Given the description of an element on the screen output the (x, y) to click on. 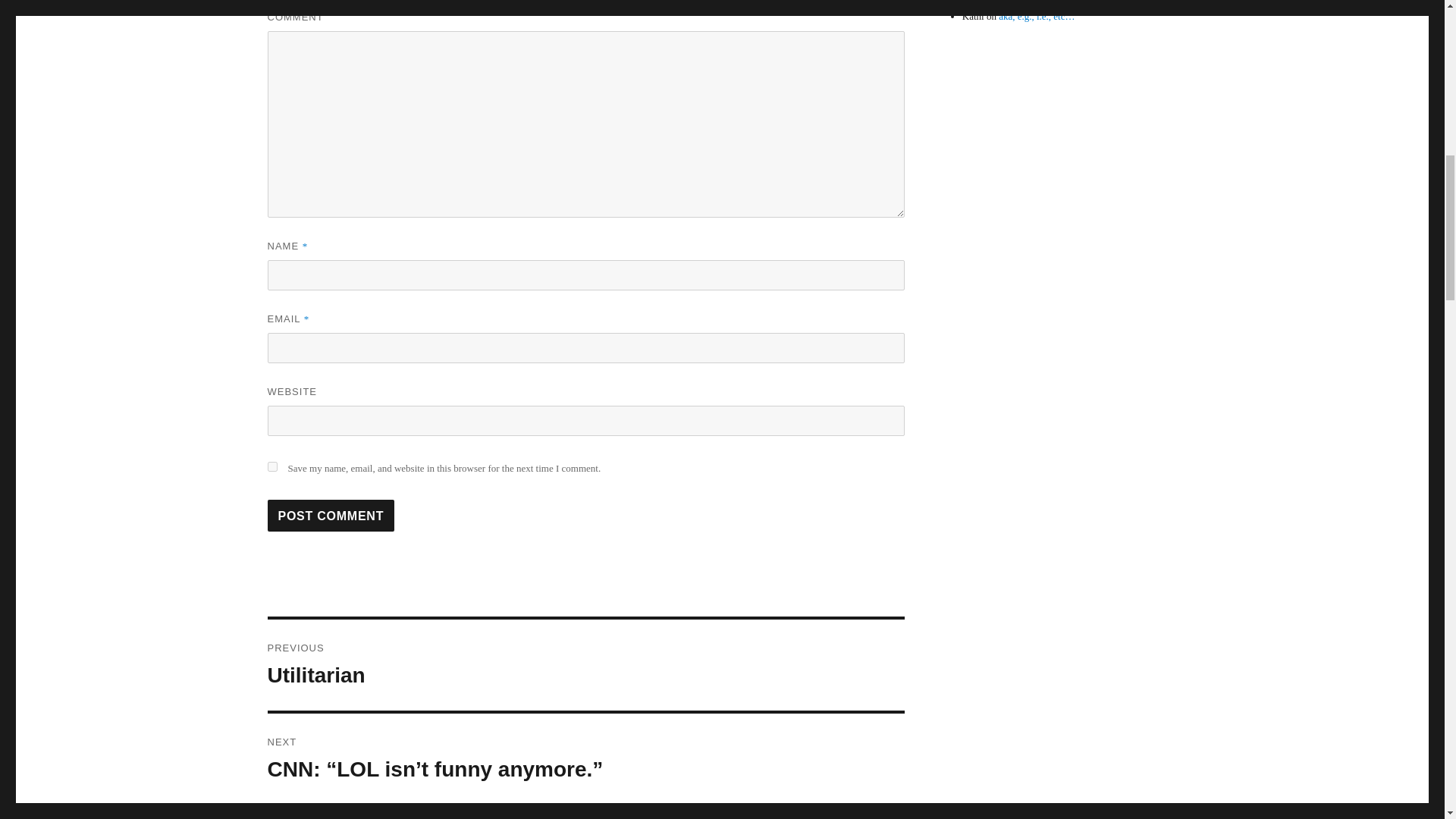
Post Comment (330, 515)
Post Comment (585, 664)
yes (330, 515)
